Given the description of an element on the screen output the (x, y) to click on. 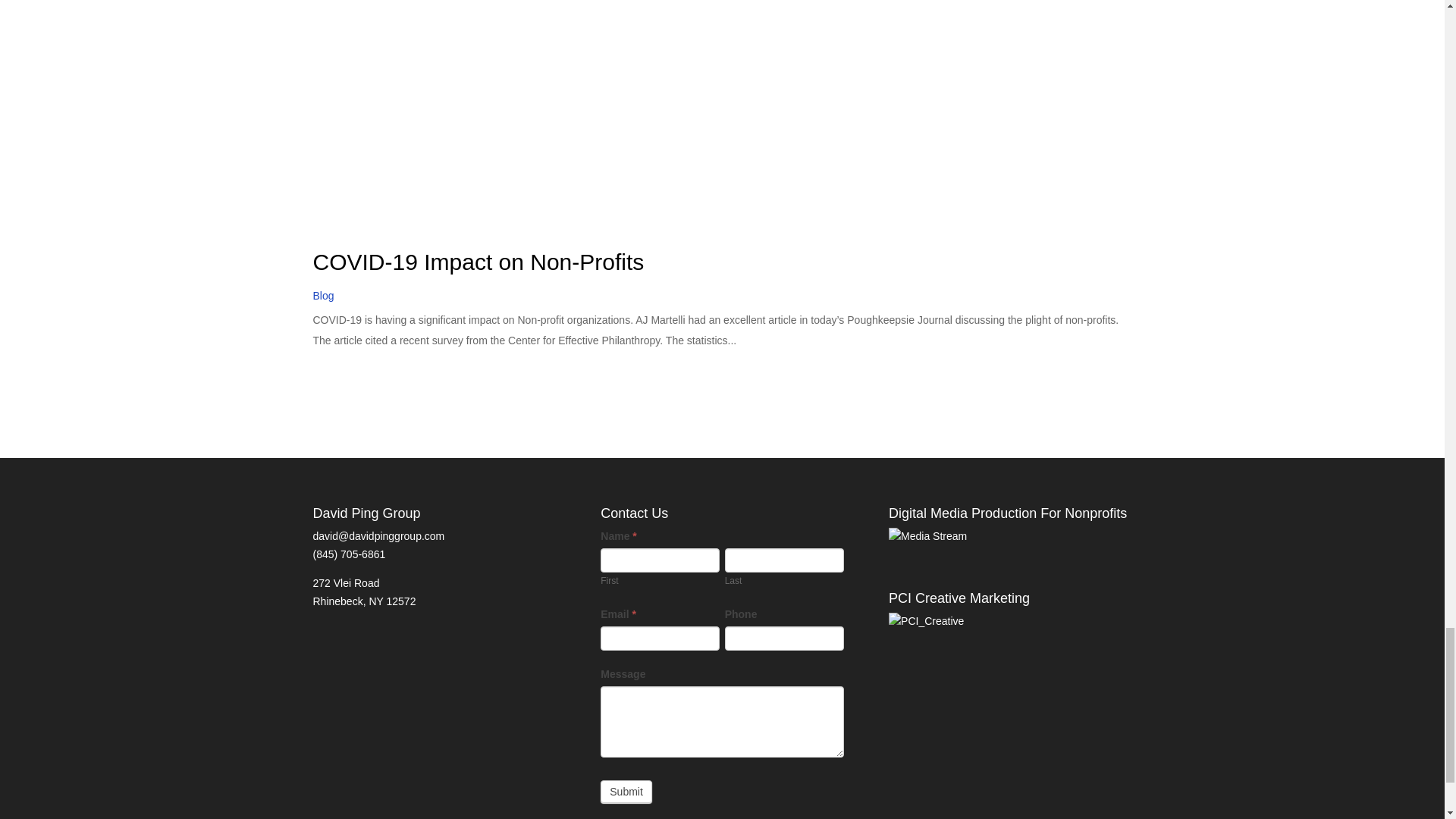
COVID-19 Impact on Non-Profits (478, 261)
Submit (625, 791)
Blog (323, 295)
